Given the description of an element on the screen output the (x, y) to click on. 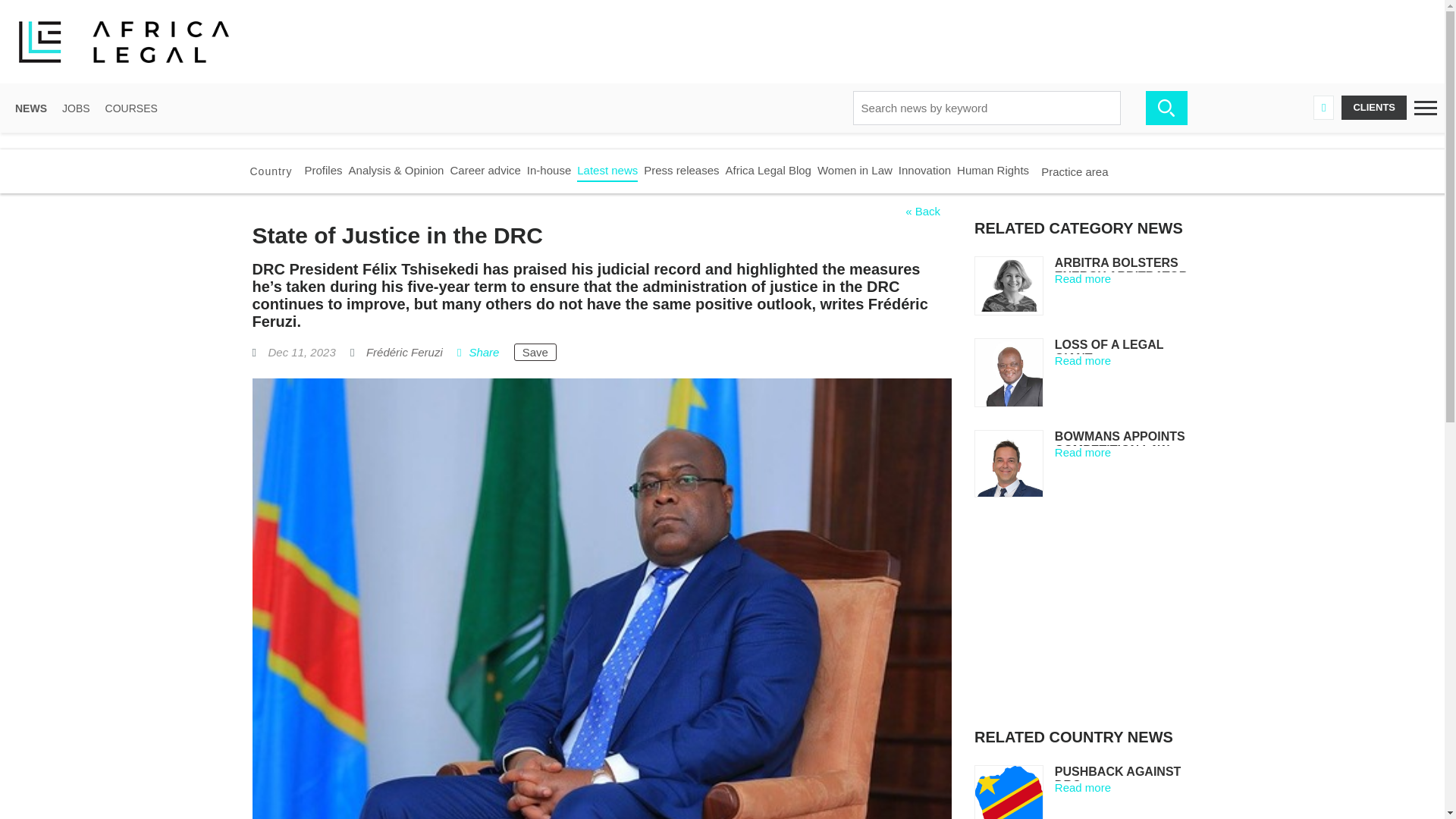
Africa Legal (132, 42)
Country (271, 171)
3rd party ad content (1152, 41)
NEWS (30, 108)
CLIENTS (1373, 107)
3rd party ad content (1088, 618)
Africa Legal (132, 42)
JOBS (76, 108)
COURSES (130, 108)
